Given the description of an element on the screen output the (x, y) to click on. 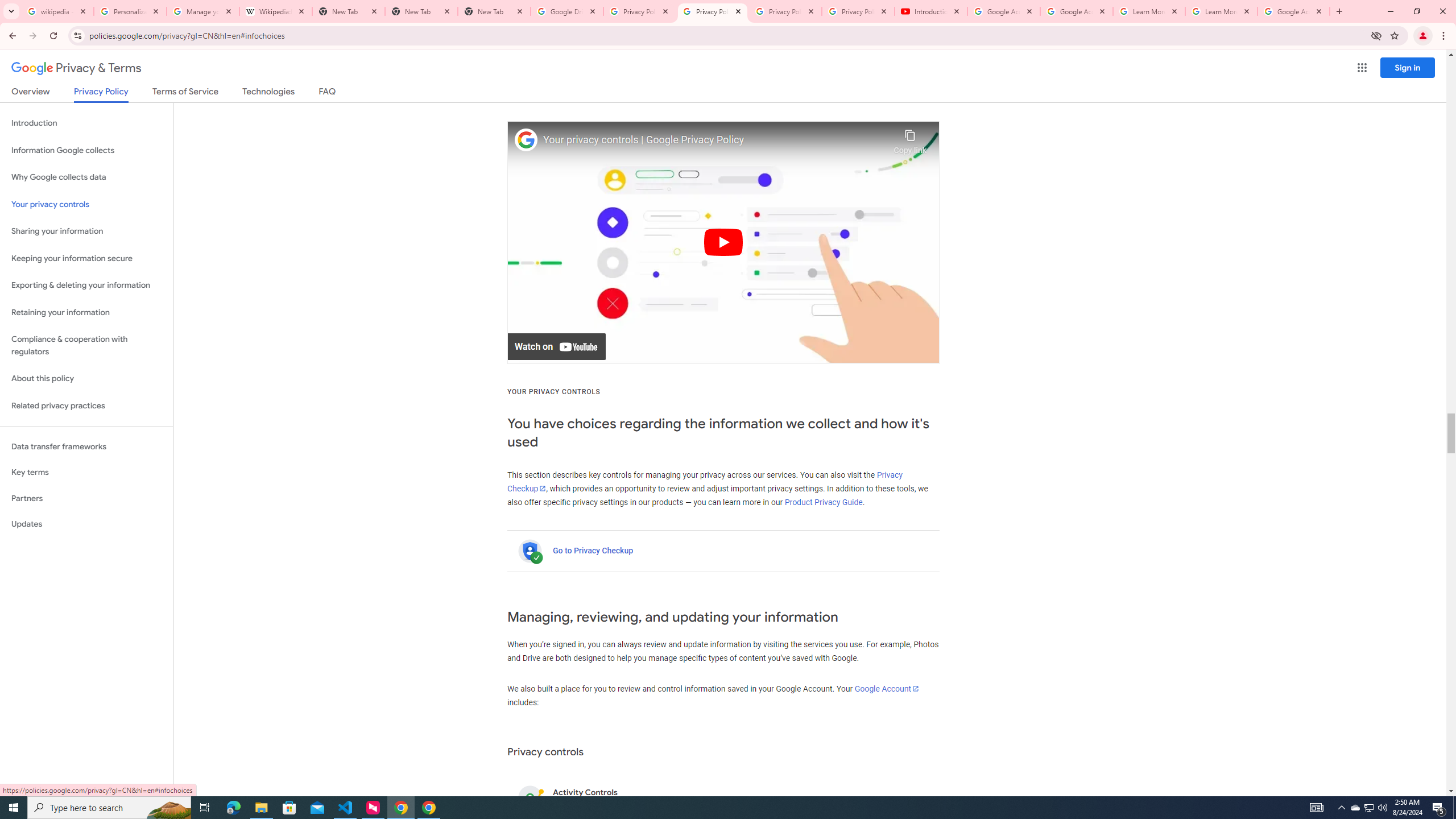
Sharing your information (86, 230)
Privacy Checkup (704, 481)
Introduction (86, 122)
Third-party cookies blocked (1376, 35)
Compliance & cooperation with regulators (86, 345)
